Given the description of an element on the screen output the (x, y) to click on. 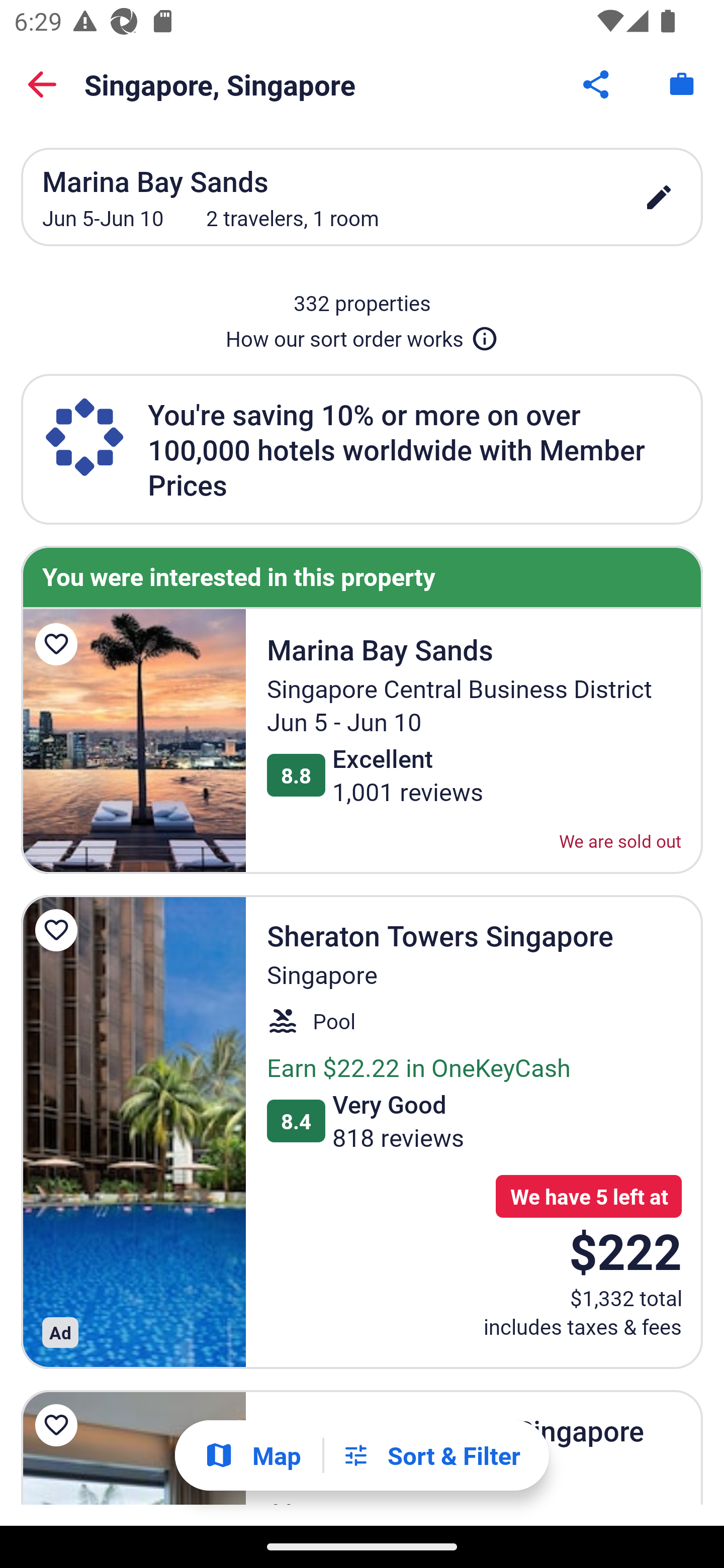
Back (42, 84)
Share Button (597, 84)
Trips. Button (681, 84)
How our sort order works (361, 334)
Save Marina Bay Sands to a trip (59, 644)
Marina Bay Sands (133, 740)
Save Sheraton Towers Singapore to a trip (59, 929)
Sheraton Towers Singapore (133, 1131)
Save Dusit Thani Laguna Singapore to a trip (59, 1424)
Filters Sort & Filter Filters Button (430, 1455)
Show map Map Show map Button (252, 1455)
